Given the description of an element on the screen output the (x, y) to click on. 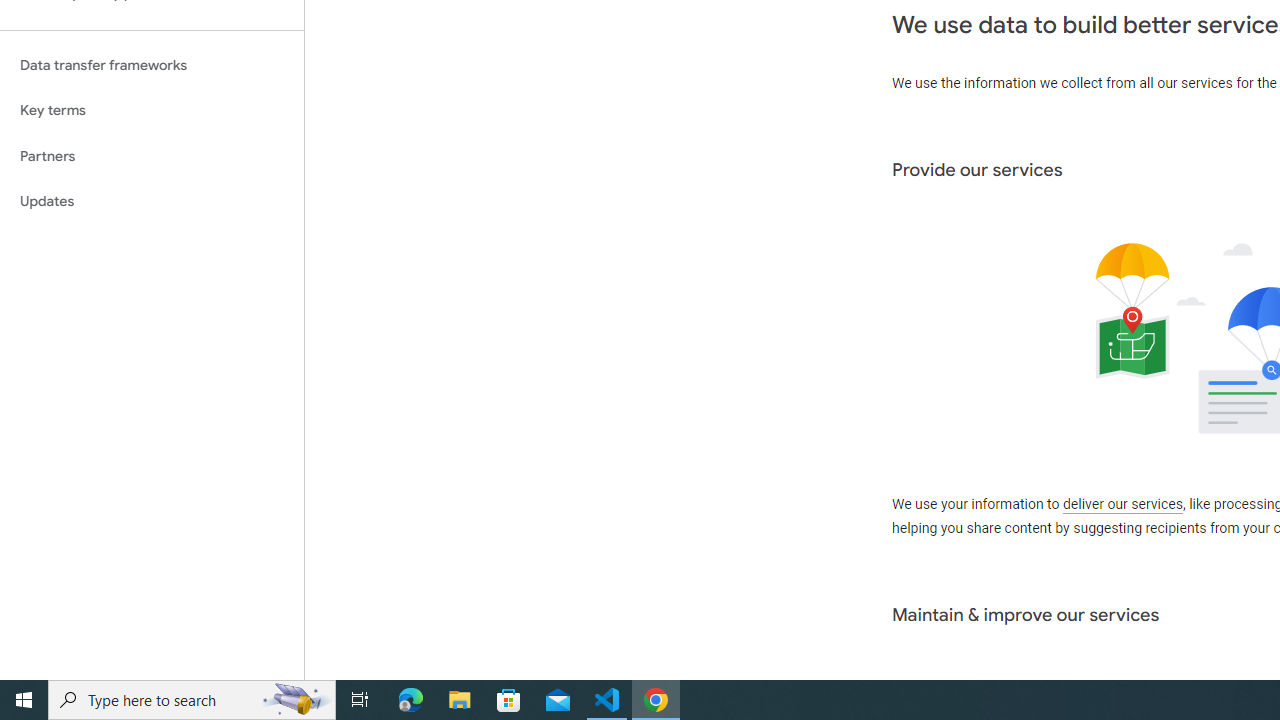
Updates (152, 201)
deliver our services (1122, 505)
Key terms (152, 110)
Partners (152, 156)
Data transfer frameworks (152, 65)
